Given the description of an element on the screen output the (x, y) to click on. 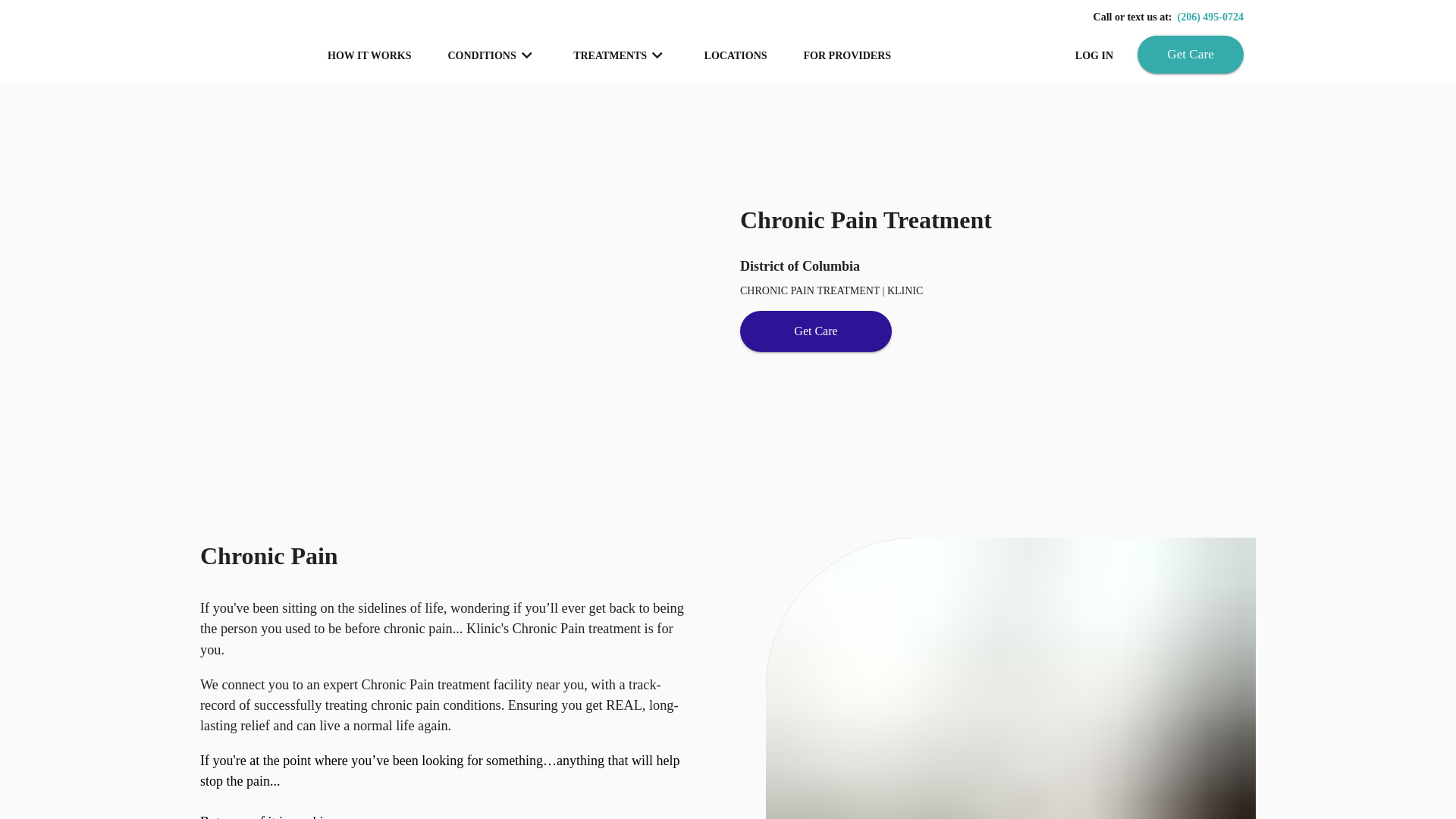
LOG IN (1094, 55)
Get Care (815, 331)
HOW IT WORKS (368, 55)
LOCATIONS (735, 55)
FOR PROVIDERS (848, 55)
Get Care (1190, 54)
